Given the description of an element on the screen output the (x, y) to click on. 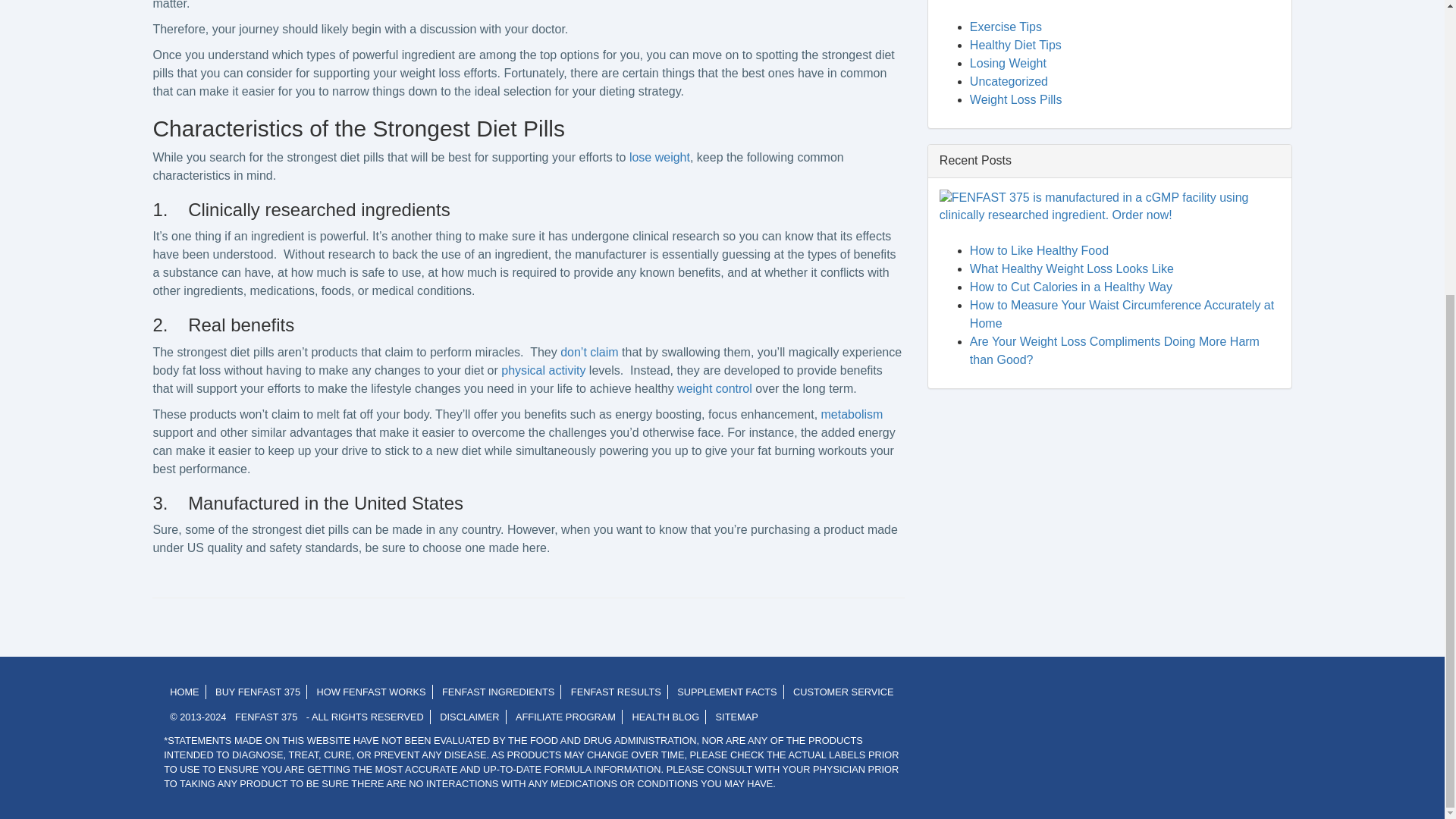
What Healthy Weight Loss Looks Like (1071, 268)
Are Your Weight Loss Compliments Doing More Harm than Good? (1114, 350)
Losing Weight (1007, 62)
Healthy Diet Tips (1015, 44)
How to Like Healthy Food (1038, 250)
lose weight (659, 156)
How to Cut Calories in a Healthy Way (1070, 286)
FENFAST INGREDIENTS (497, 691)
Uncategorized (1008, 81)
How to Measure Your Waist Circumference Accurately at Home (1121, 314)
